Given the description of an element on the screen output the (x, y) to click on. 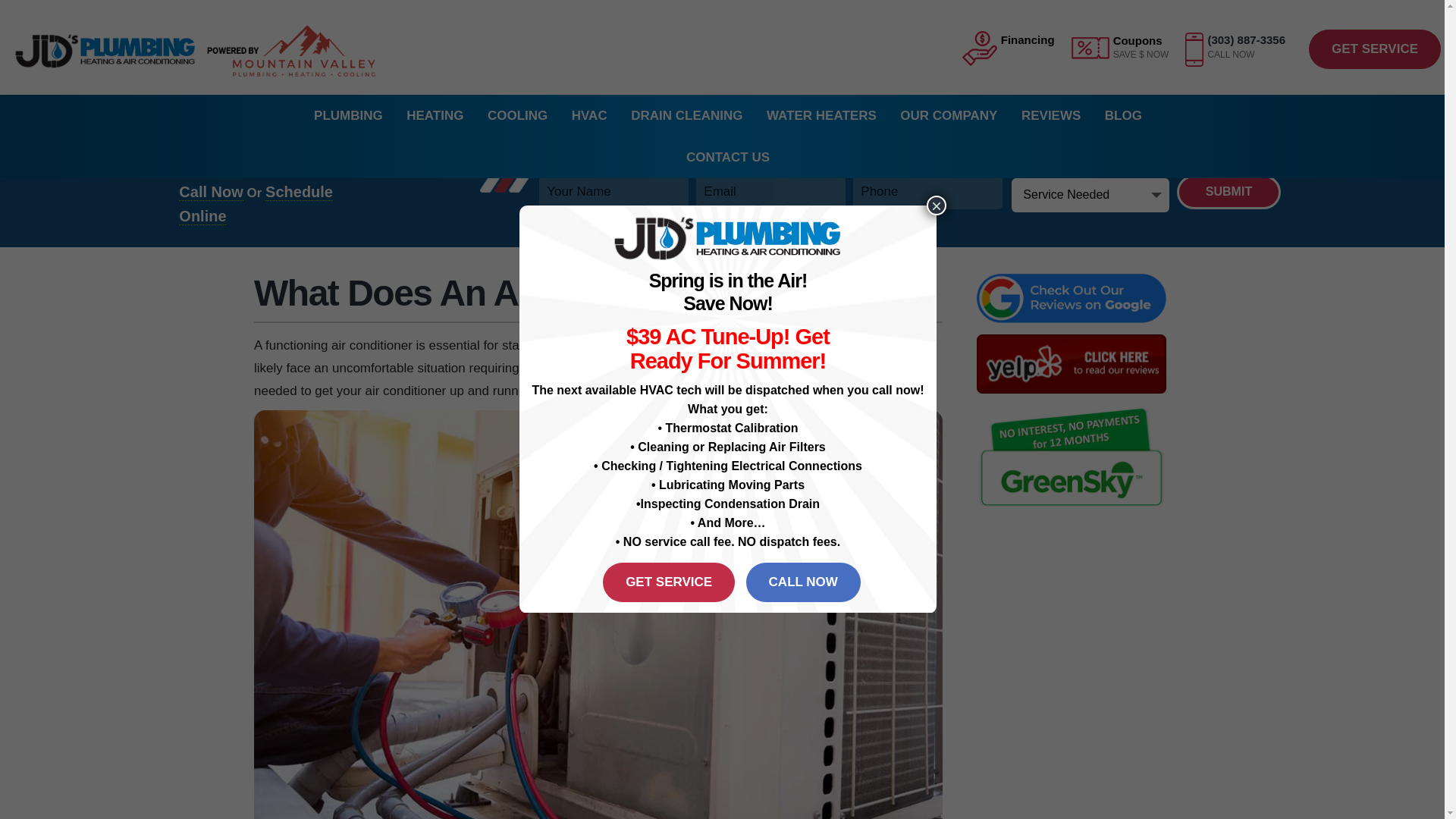
Submit (1227, 191)
Plumbers denver (727, 238)
